Given the description of an element on the screen output the (x, y) to click on. 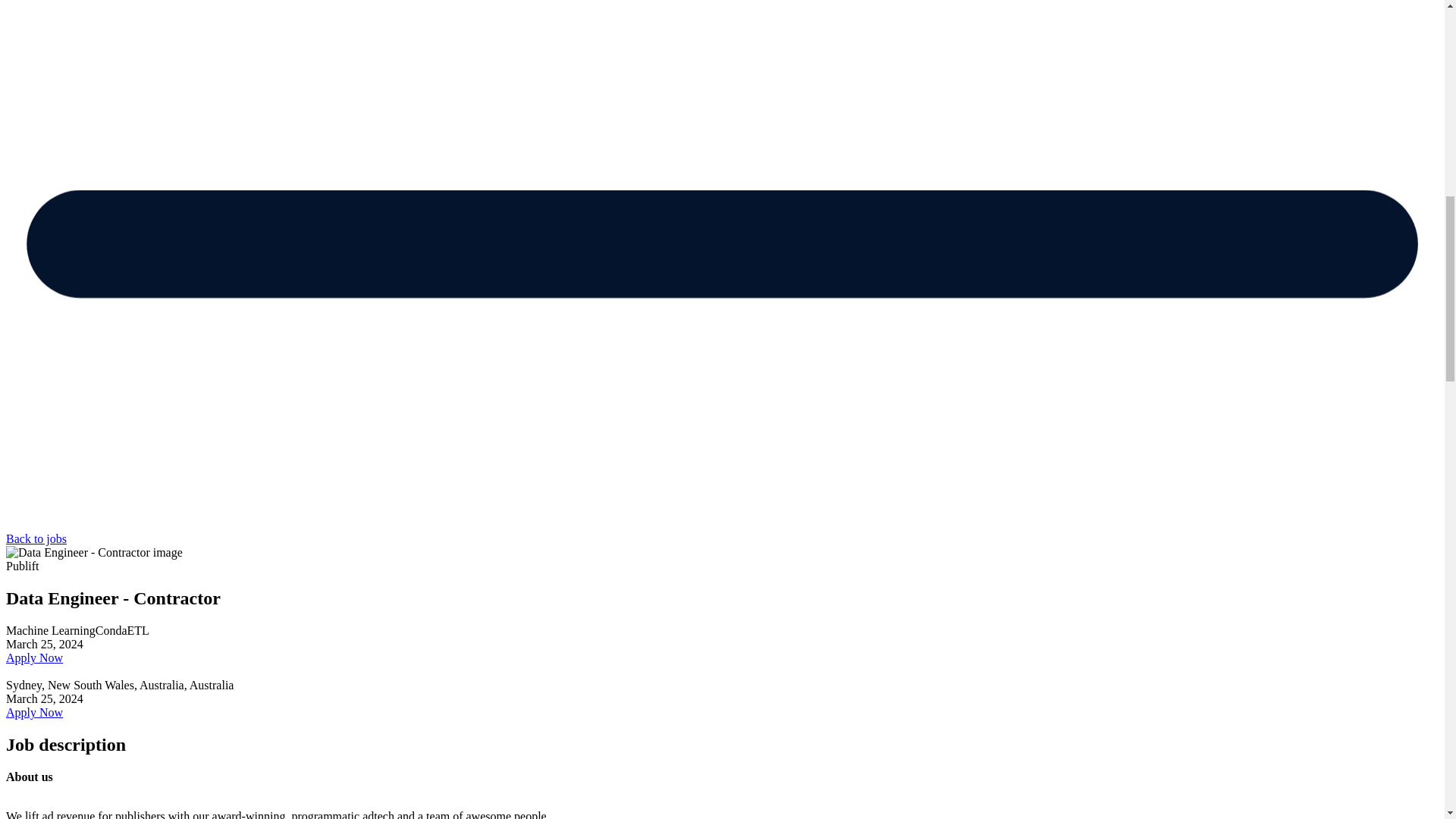
Publift (22, 565)
Apply Now (33, 712)
Apply Now (33, 657)
Conda (112, 630)
Machine Learning (50, 630)
ETL (138, 630)
